Given the description of an element on the screen output the (x, y) to click on. 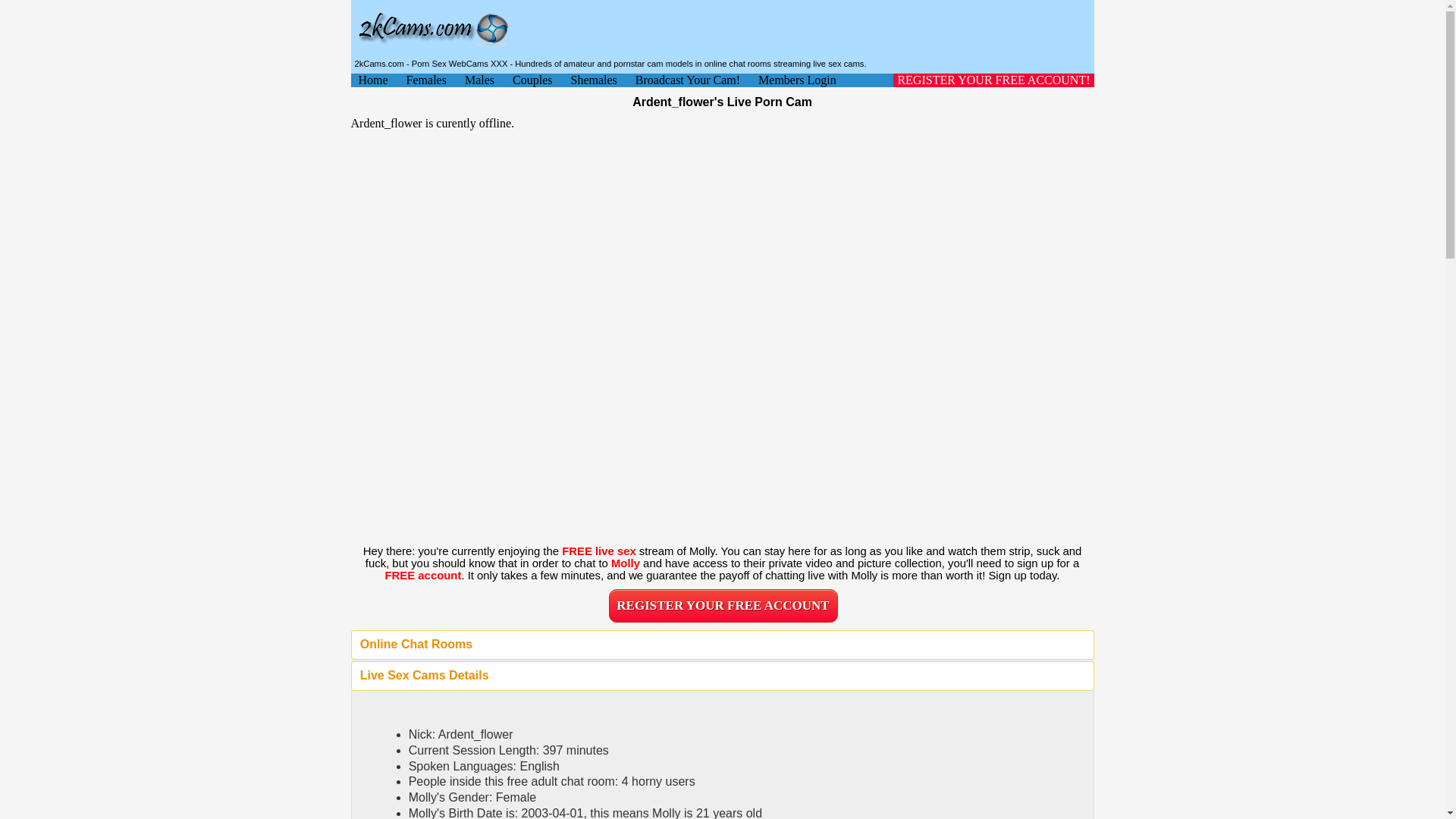
Home (372, 79)
Broadcast Your Cam! (686, 79)
REGISTER YOUR FREE ACCOUNT (722, 605)
Shemales (592, 79)
Females (426, 79)
Members Login (796, 79)
REGISTER YOUR FREE ACCOUNT! (992, 79)
Couples (531, 79)
Males (479, 79)
